Given the description of an element on the screen output the (x, y) to click on. 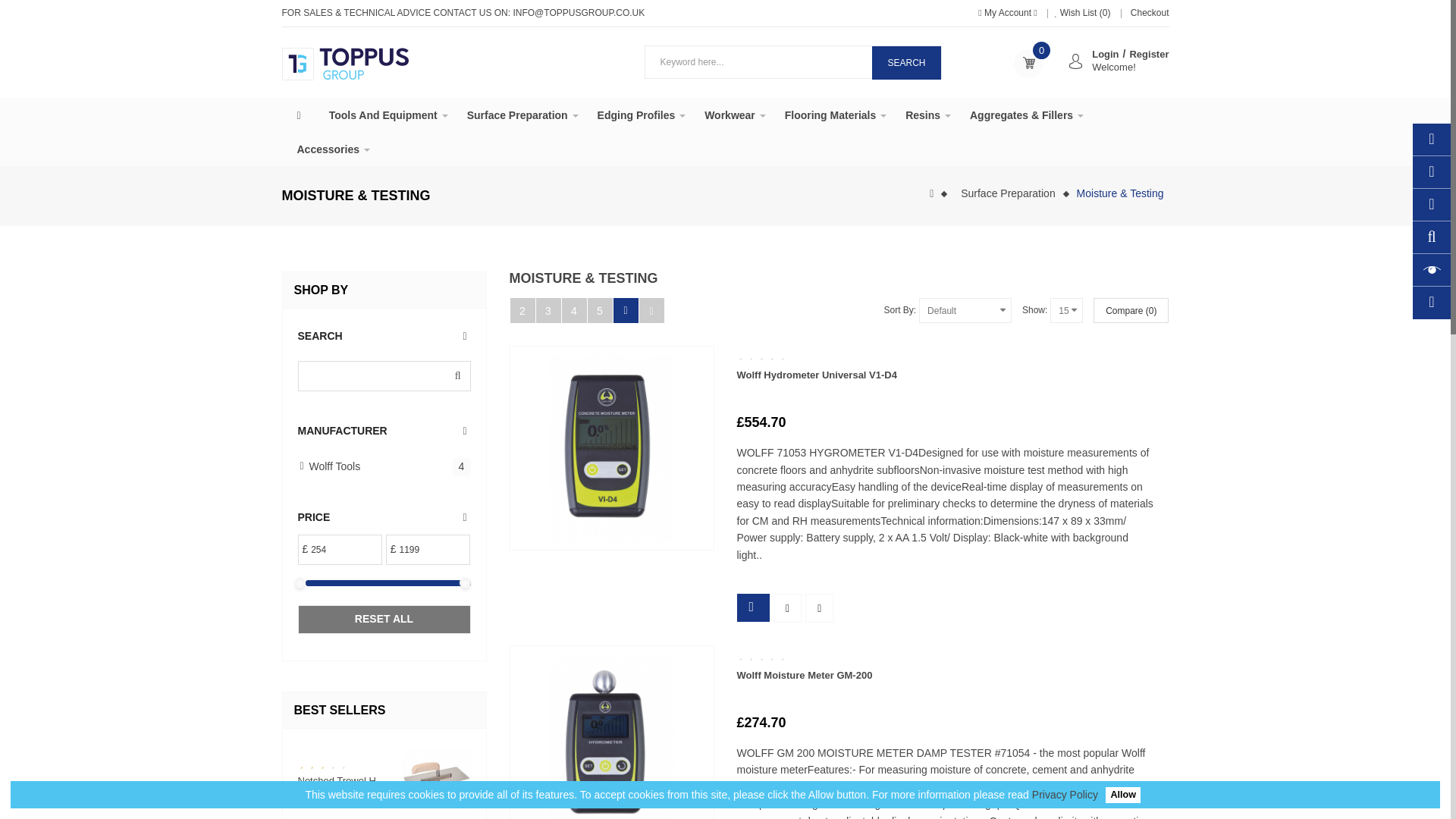
Tools And Equipment (388, 114)
My Account  (1008, 12)
Toppus Group (345, 64)
Login (1105, 53)
254 (337, 549)
Checkout (1148, 12)
SEARCH (906, 62)
 Notched Trowel H-Shaped Teeth 4x4mm 28cm  (435, 779)
List (624, 310)
1199 (424, 549)
Checkout  (1148, 12)
 Notched Trowel H-Shaped Teeth 4x4mm 28cm  (345, 791)
Register (1149, 53)
Surface Preparation (522, 114)
My Account (1008, 12)
